Given the description of an element on the screen output the (x, y) to click on. 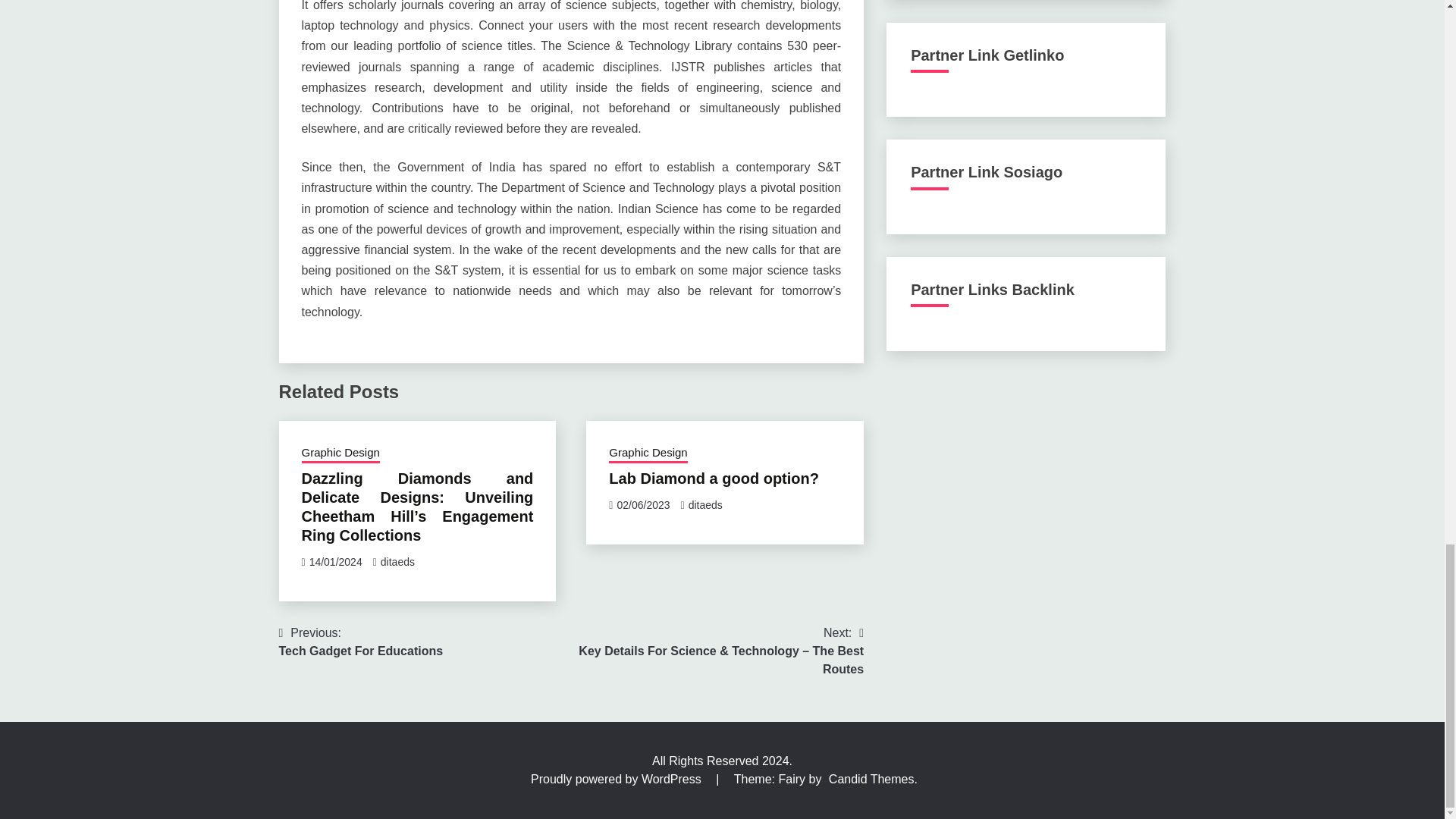
ditaeds (397, 562)
Lab Diamond a good option? (361, 642)
Graphic Design (713, 478)
Graphic Design (340, 454)
ditaeds (647, 454)
